Given the description of an element on the screen output the (x, y) to click on. 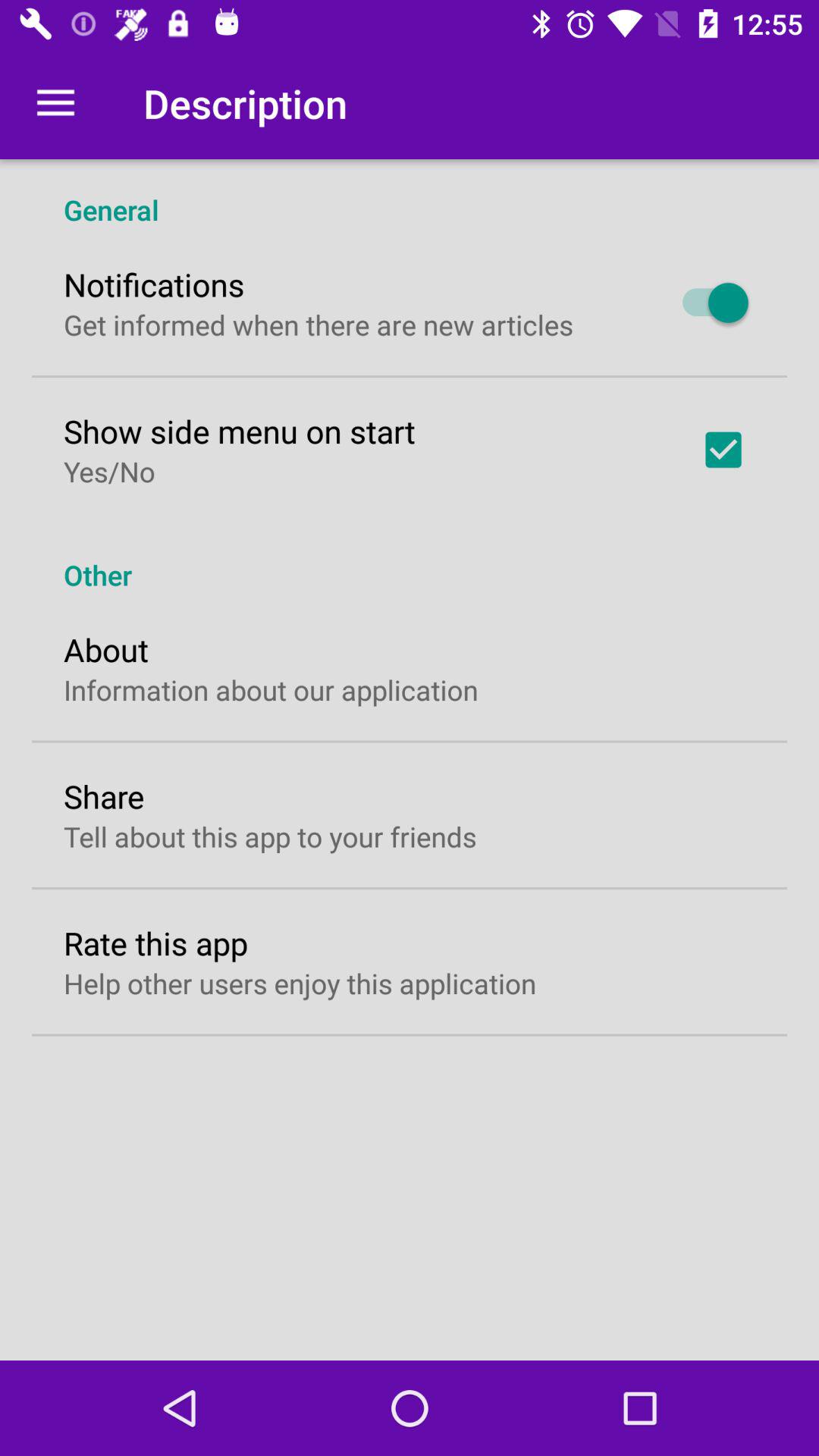
launch icon below show side menu item (109, 471)
